Given the description of an element on the screen output the (x, y) to click on. 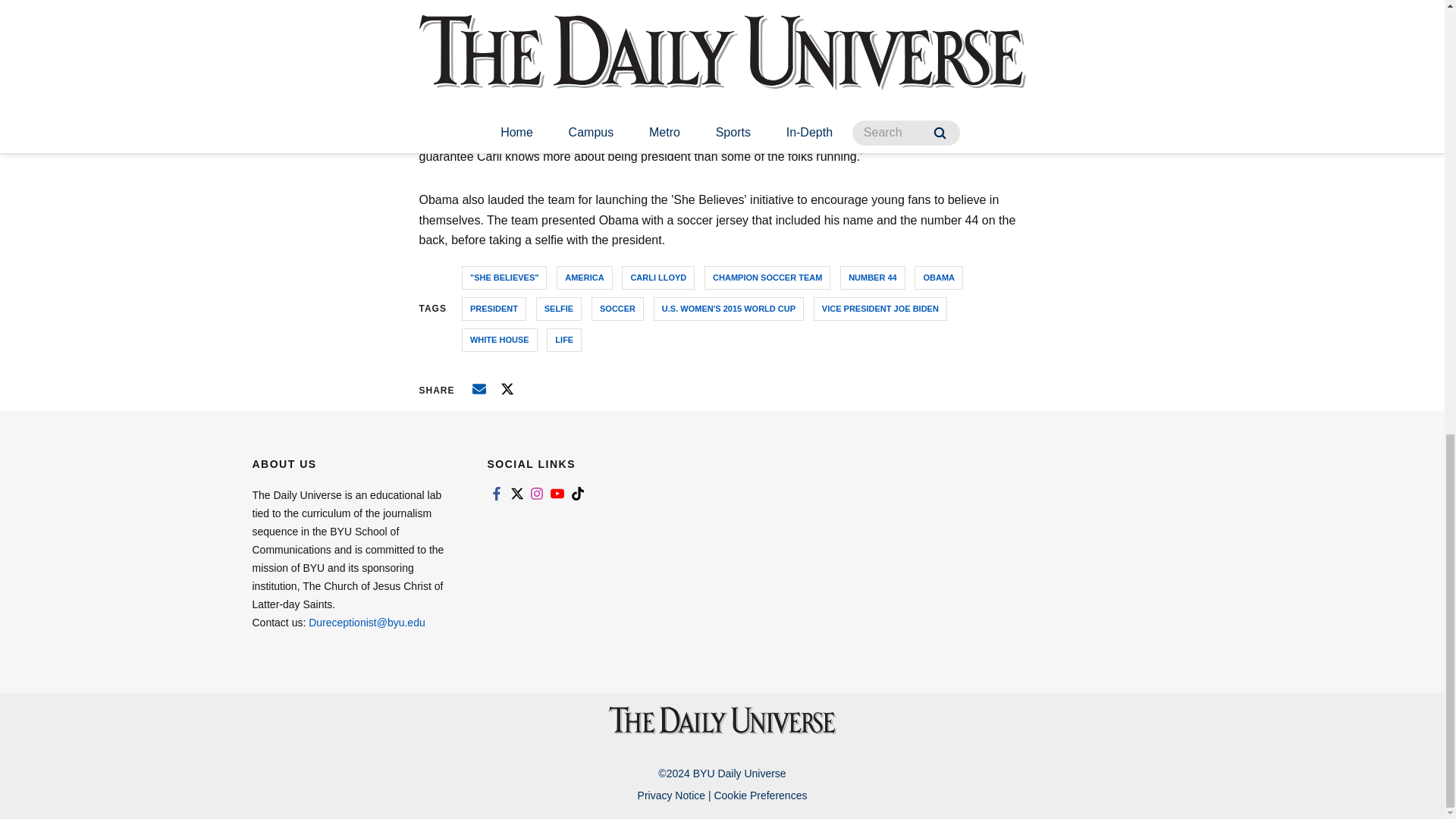
PRESIDENT (493, 309)
NUMBER 44 (872, 277)
AMERICA (583, 277)
VICE PRESIDENT JOE BIDEN (880, 309)
SOCCER (617, 309)
Link to facebook (495, 493)
U.S. WOMEN'S 2015 WORLD CUP (728, 309)
Link to instagram (536, 493)
Link to youtube (557, 493)
Email (478, 388)
